Given the description of an element on the screen output the (x, y) to click on. 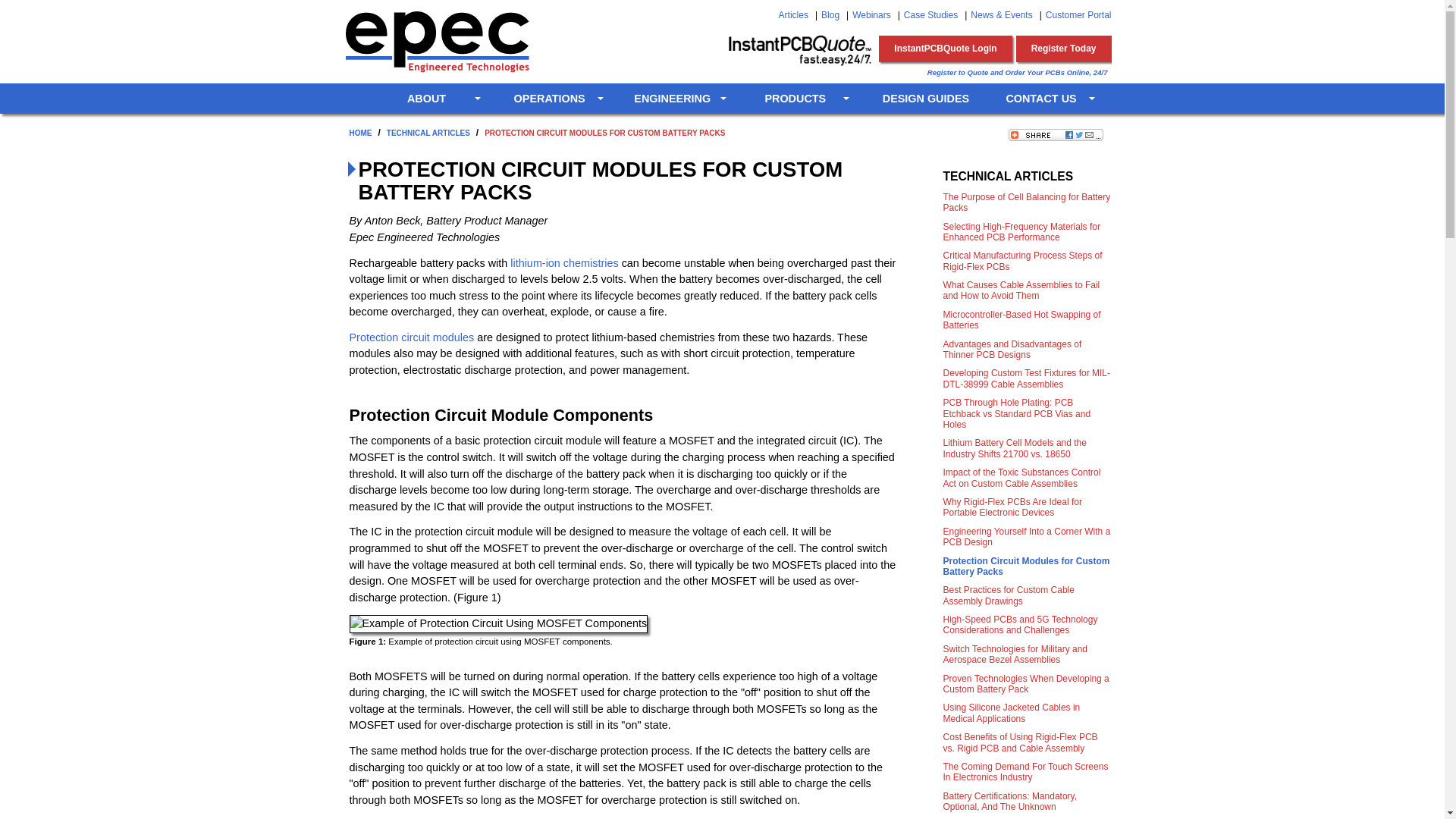
Epec Engineered Technologies - Build to Print Electronics (435, 41)
Register Today (1064, 49)
Webinars (870, 14)
Return to Home Page (352, 98)
Articles (793, 14)
Case Studies (931, 14)
Customer Portal (1078, 14)
OPERATIONS (557, 98)
Share, Bookmark or Email This Page (1056, 134)
Register for a FREE User Account (1064, 49)
Access Your InstantPCBQuote User Account (945, 49)
ENGINEERING (679, 98)
Example of Protection Circuit Using MOSFET Components (498, 624)
PRODUCTS (802, 98)
